Given the description of an element on the screen output the (x, y) to click on. 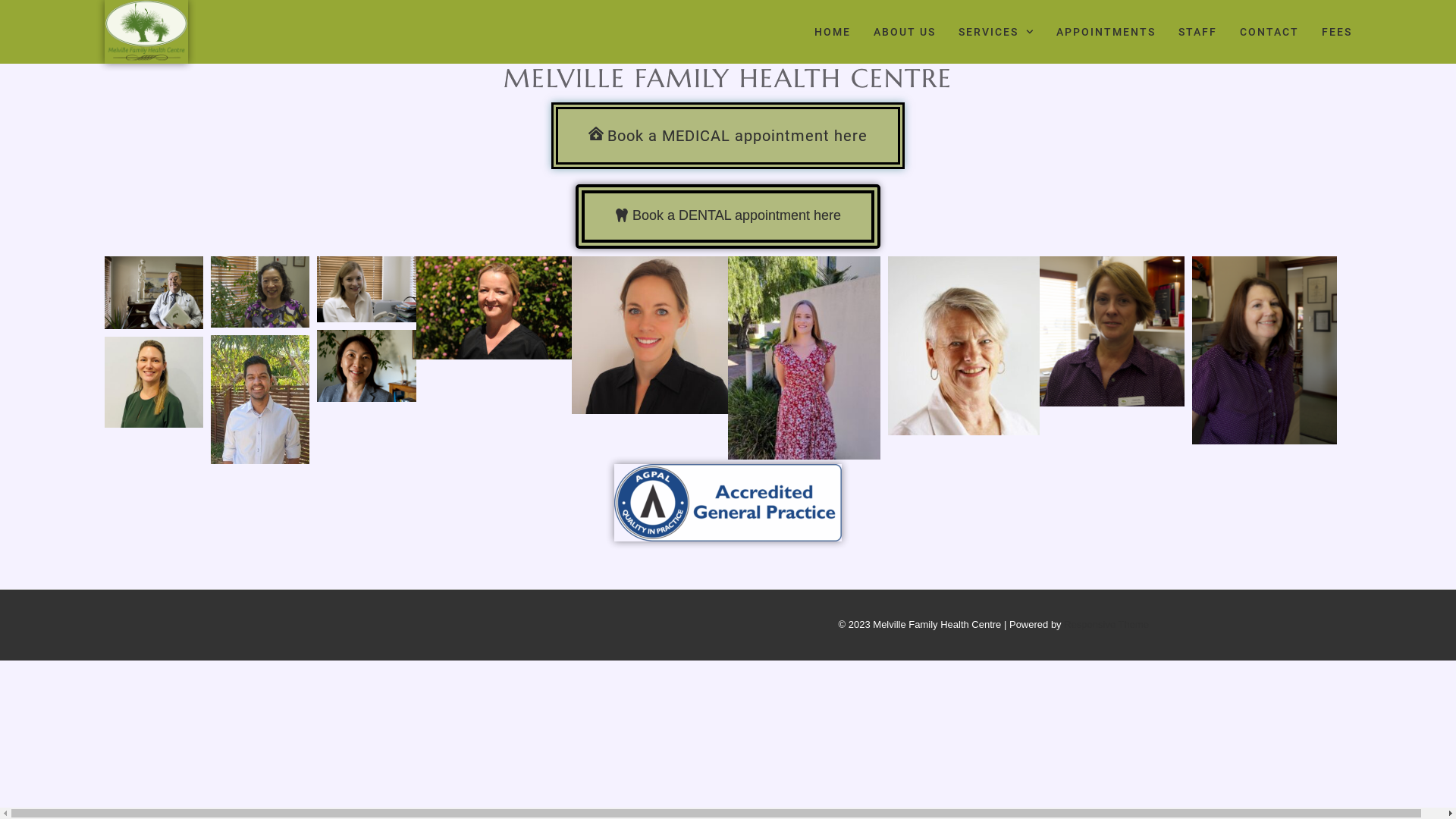
Book a MEDICAL appointment here Element type: text (727, 135)
Book a DENTAL appointment here Element type: text (727, 216)
HOME Element type: text (832, 31)
APPOINTMENTS Element type: text (1104, 31)
AGPAL Element type: hover (727, 502)
Responsive Theme Element type: text (1105, 624)
SERVICES Element type: text (995, 31)
ABOUT US Element type: text (904, 31)
STAFF Element type: text (1197, 31)
FEES Element type: text (1336, 31)
CONTACT Element type: text (1268, 31)
